Given the description of an element on the screen output the (x, y) to click on. 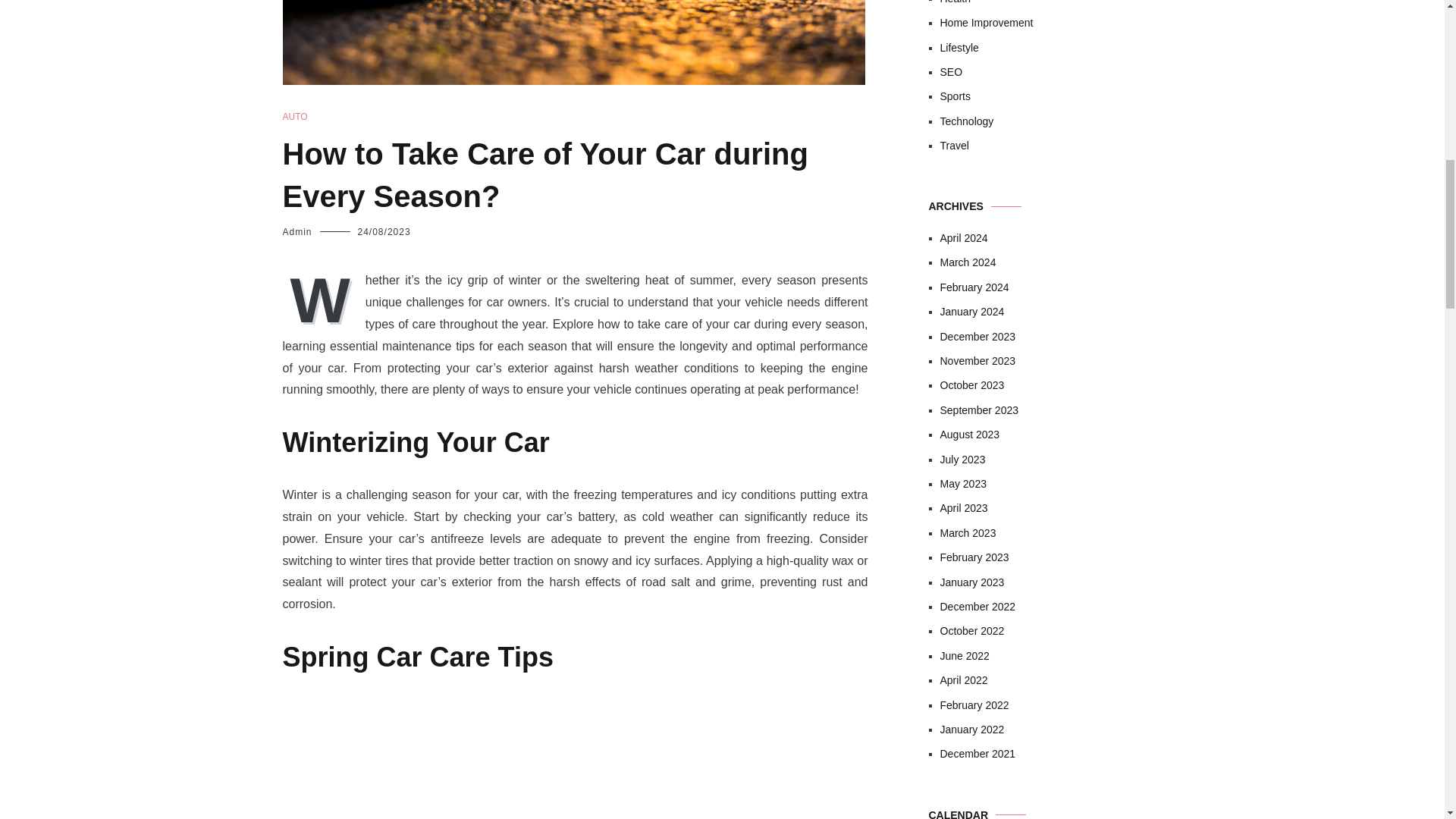
AUTO (294, 116)
Admin (296, 231)
W (323, 298)
